Given the description of an element on the screen output the (x, y) to click on. 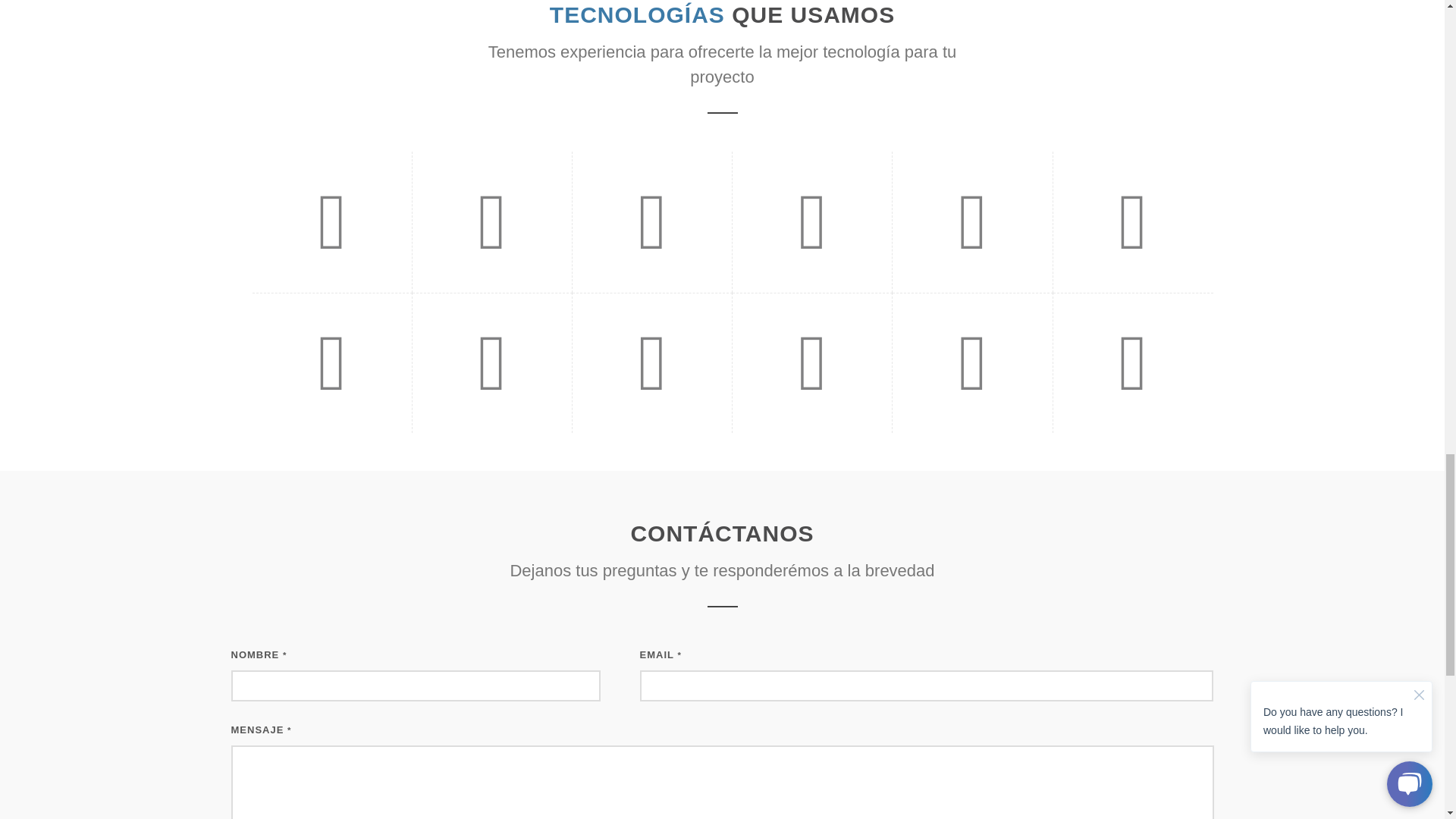
Laravel (491, 221)
NodeJs (1132, 221)
Symfony (331, 221)
VueJs (972, 221)
Mongo DB (331, 362)
React (812, 221)
Doctrine (491, 362)
PHP (652, 221)
